Given the description of an element on the screen output the (x, y) to click on. 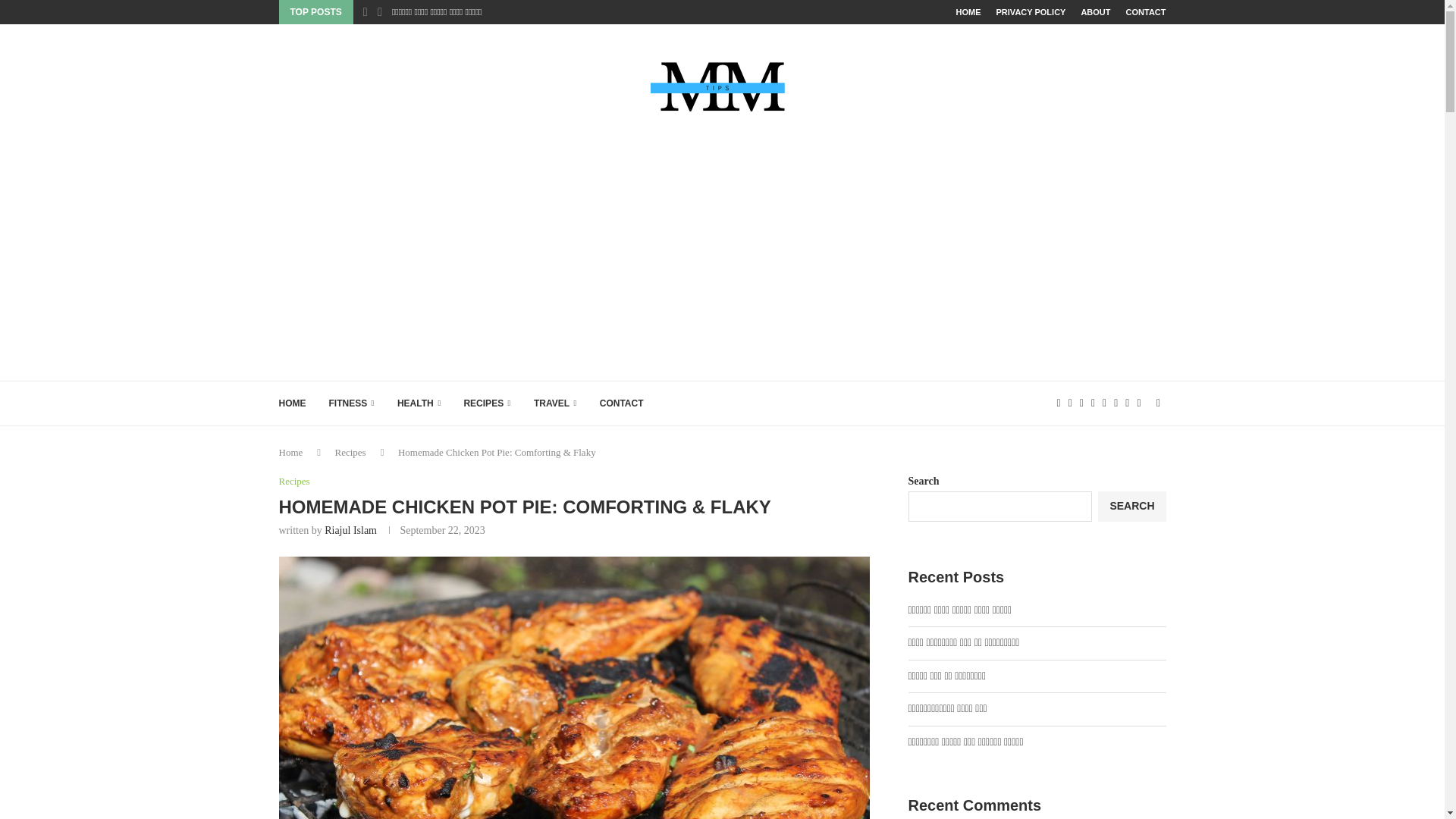
PRIVACY POLICY (1030, 12)
Recipes (294, 481)
ABOUT (1094, 12)
Riajul Islam (350, 530)
CONTACT (621, 403)
HOME (968, 12)
RECIPES (487, 403)
FITNESS (351, 403)
Home (290, 451)
